Given the description of an element on the screen output the (x, y) to click on. 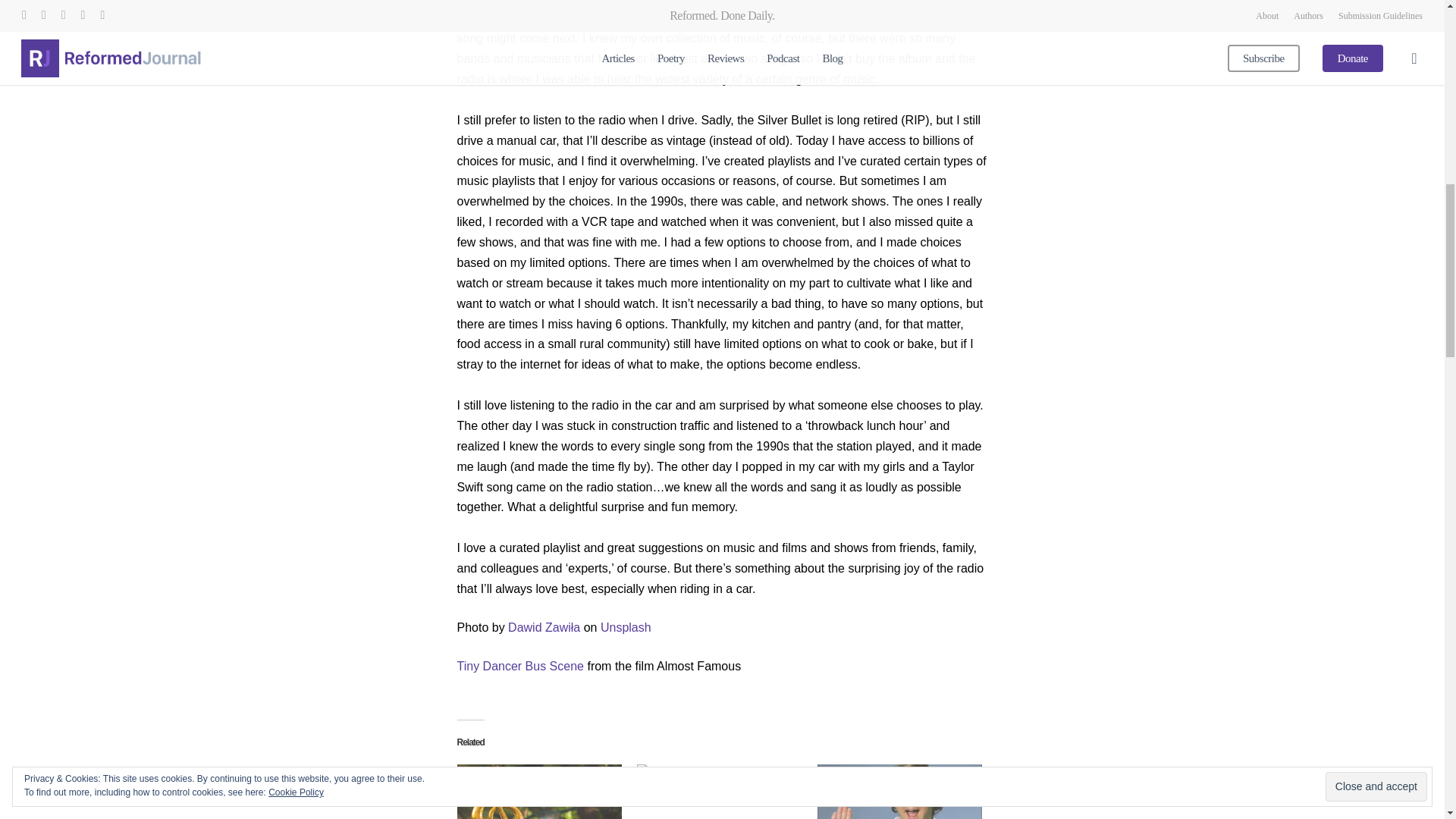
Tiny Dancer Bus Scene (521, 666)
A Material World: The Smell of Vinyl (719, 791)
A Modest Suggestion Regarding Advent Snobbery (539, 791)
Unsplash (624, 626)
